Given the description of an element on the screen output the (x, y) to click on. 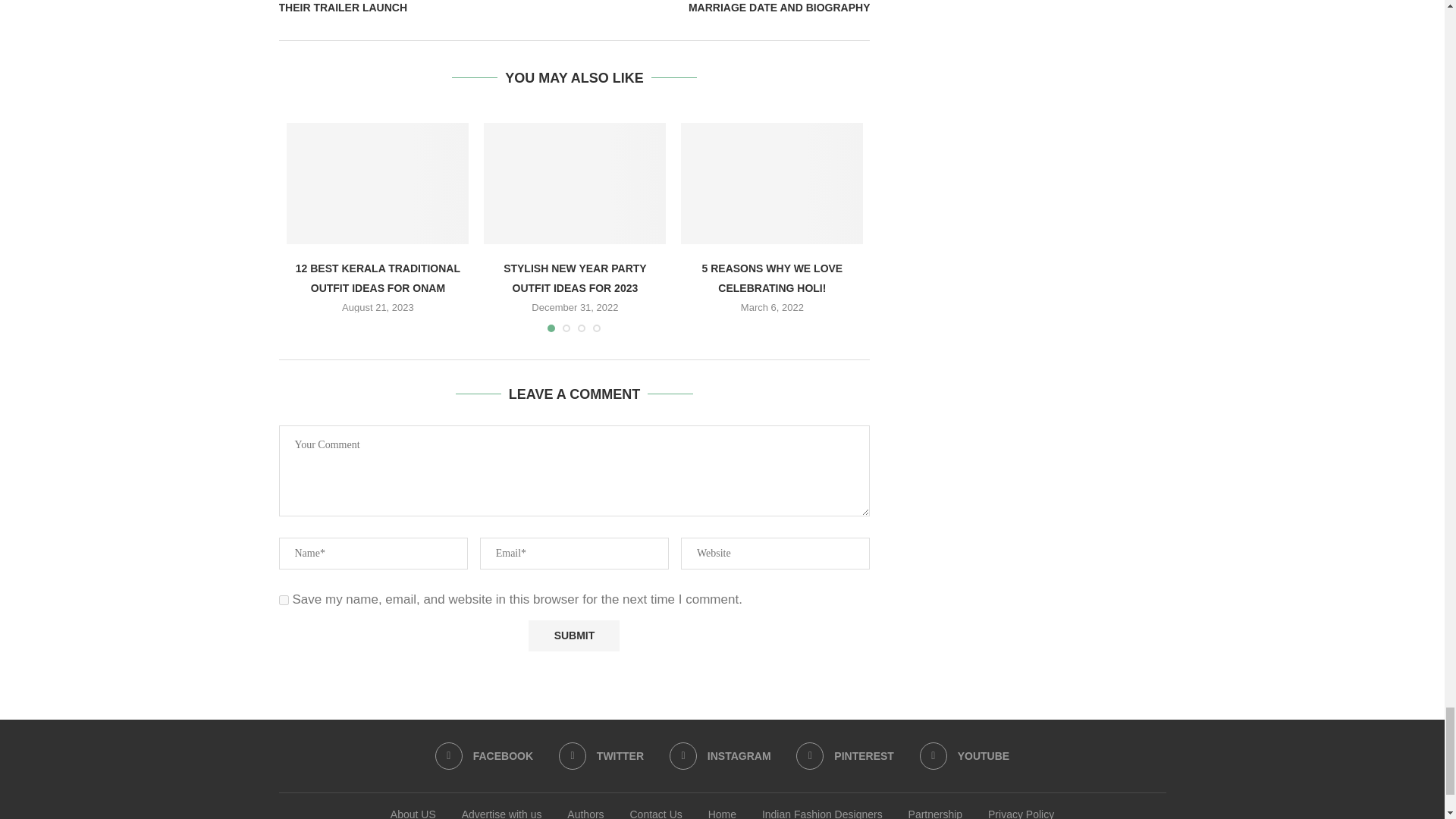
Stylish New Year Party Outfit Ideas For 2023 (574, 183)
5 Reasons Why We Love Celebrating Holi! (772, 183)
yes (283, 600)
Submit (574, 635)
12 BEST KERALA TRADITIONAL OUTFIT IDEAS FOR ONAM (377, 183)
